Given the description of an element on the screen output the (x, y) to click on. 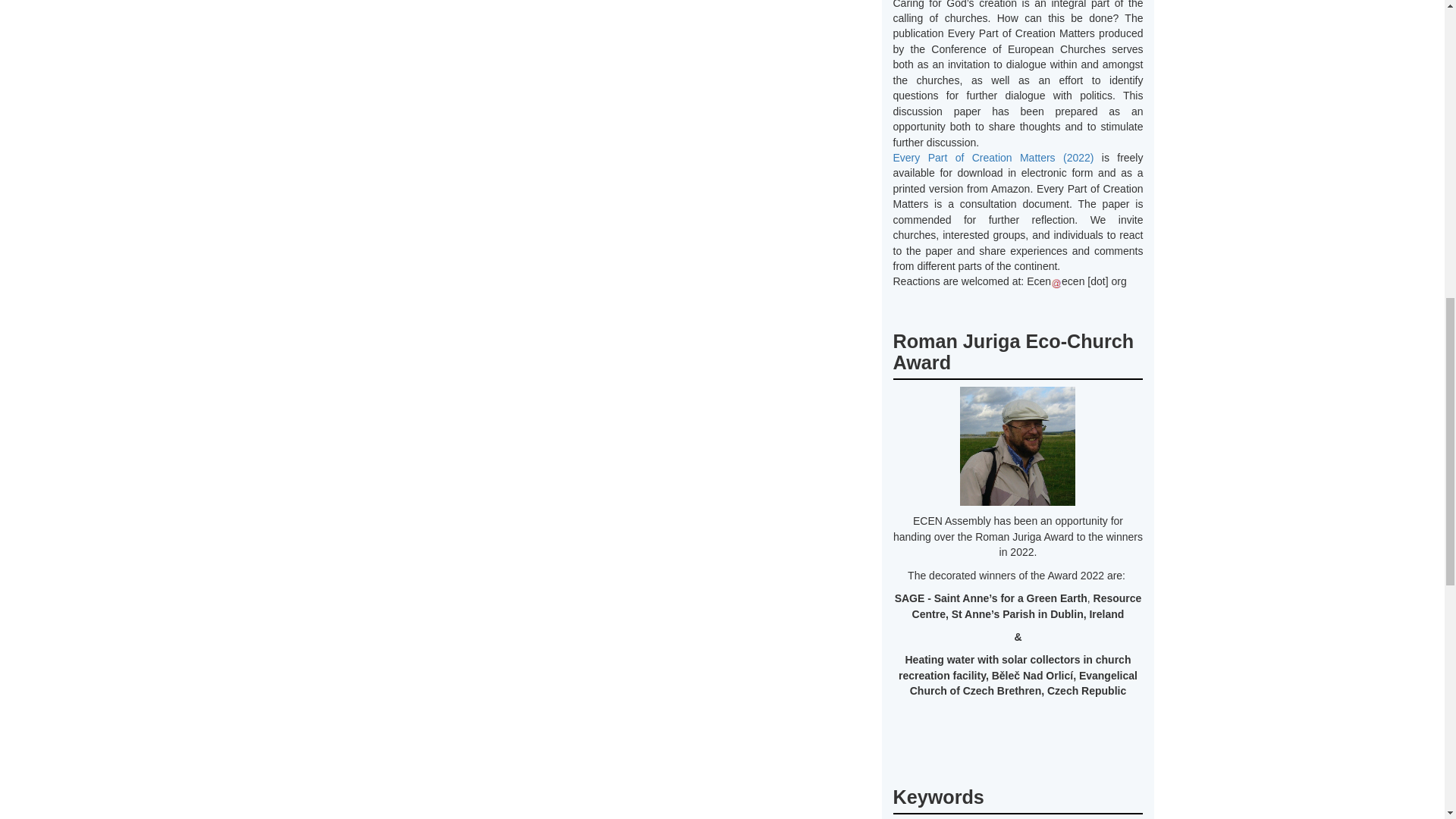
Roman Juriga Eco-Church Award (1013, 351)
